Given the description of an element on the screen output the (x, y) to click on. 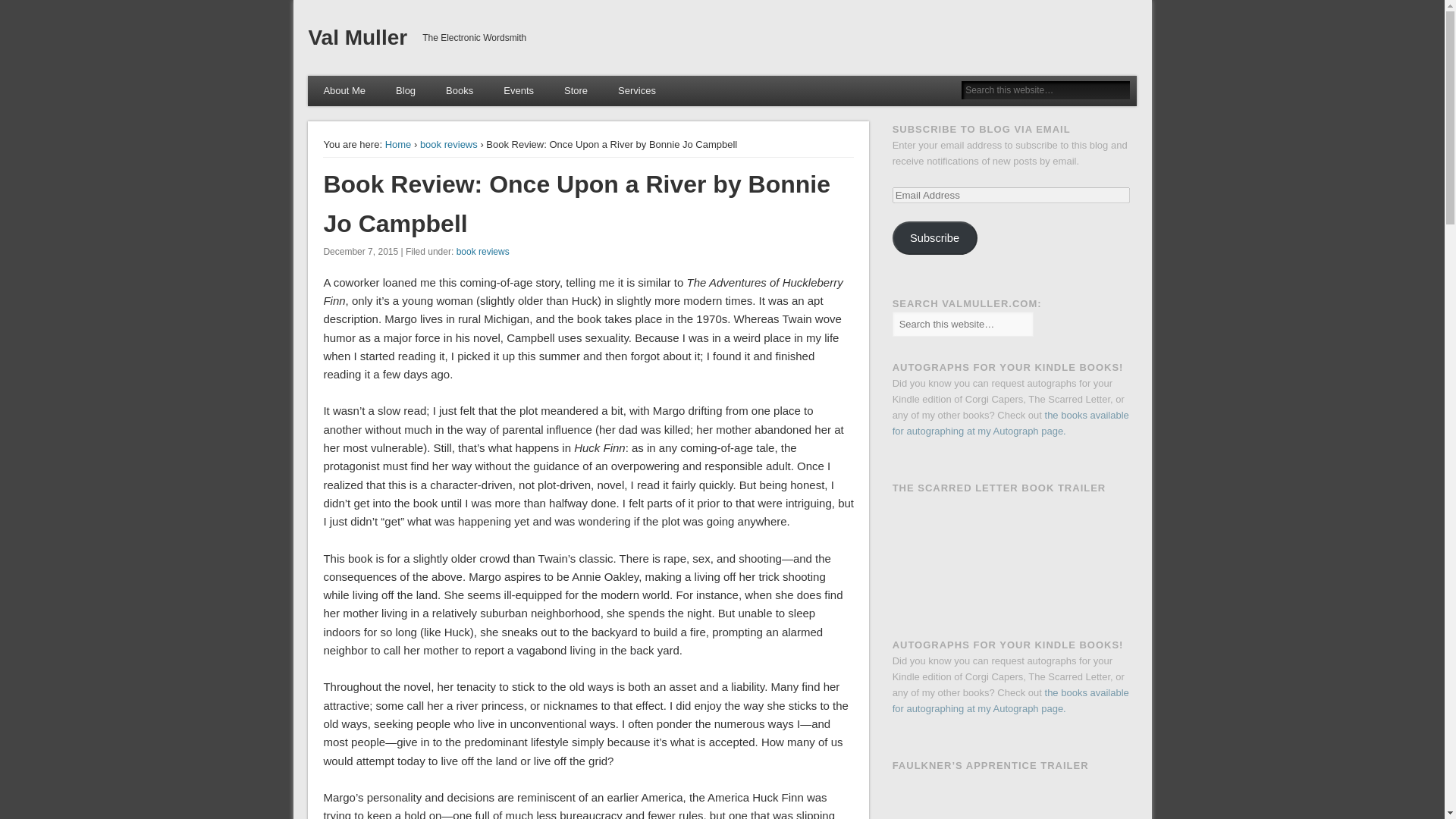
About Me (343, 91)
Subscribe (934, 237)
book reviews (448, 143)
Events (517, 91)
the books available for autographing at my Autograph page. (1010, 700)
book reviews (483, 251)
Blog (405, 91)
Services (636, 91)
Search (11, 7)
Val Muller (357, 37)
Store (575, 91)
the books available for autographing at my Autograph page. (1010, 422)
Books (458, 91)
Home (398, 143)
